Given the description of an element on the screen output the (x, y) to click on. 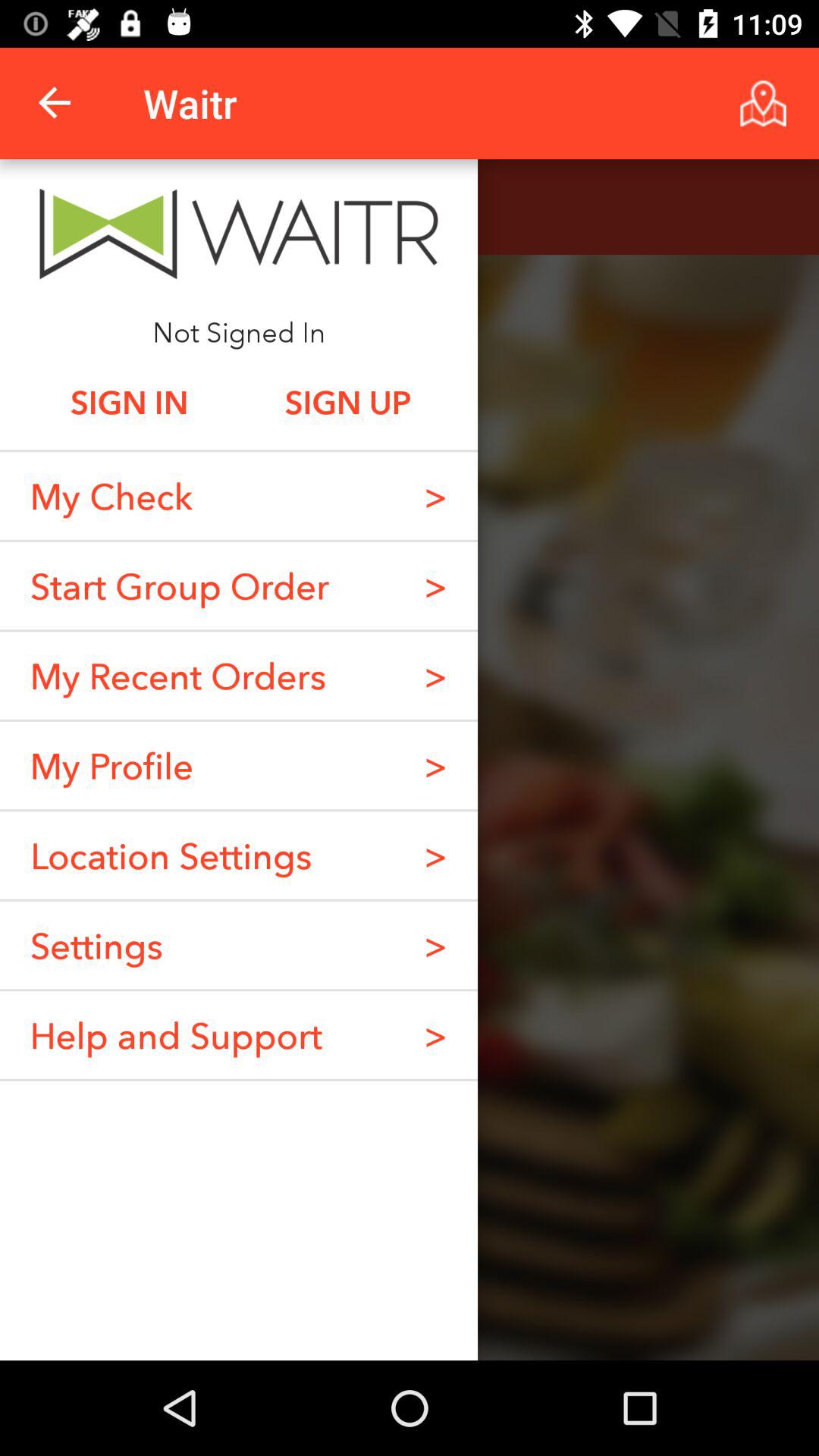
click the > item (435, 1034)
